Given the description of an element on the screen output the (x, y) to click on. 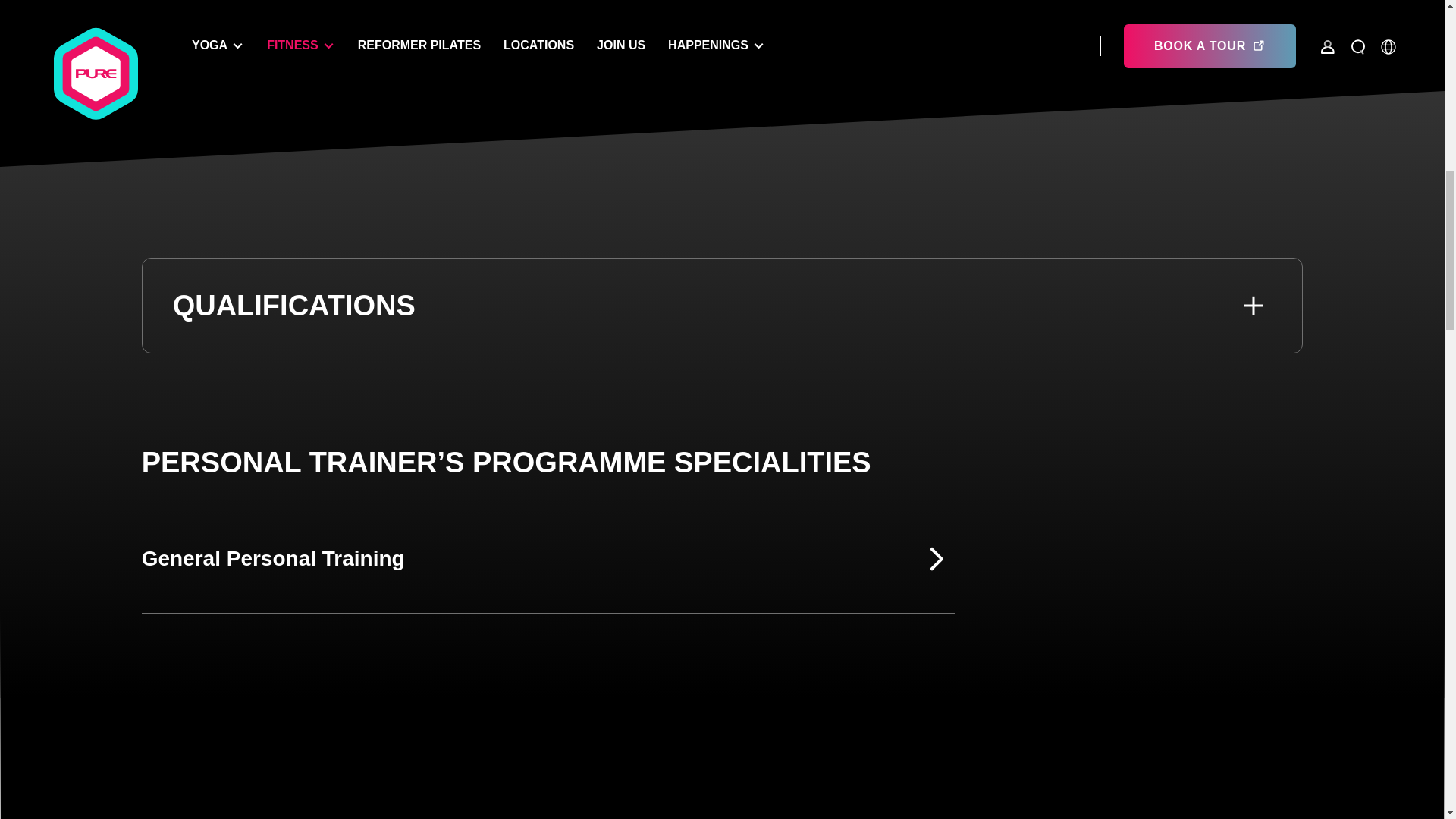
QUALIFICATIONS (722, 305)
General Personal Training (548, 558)
